Given the description of an element on the screen output the (x, y) to click on. 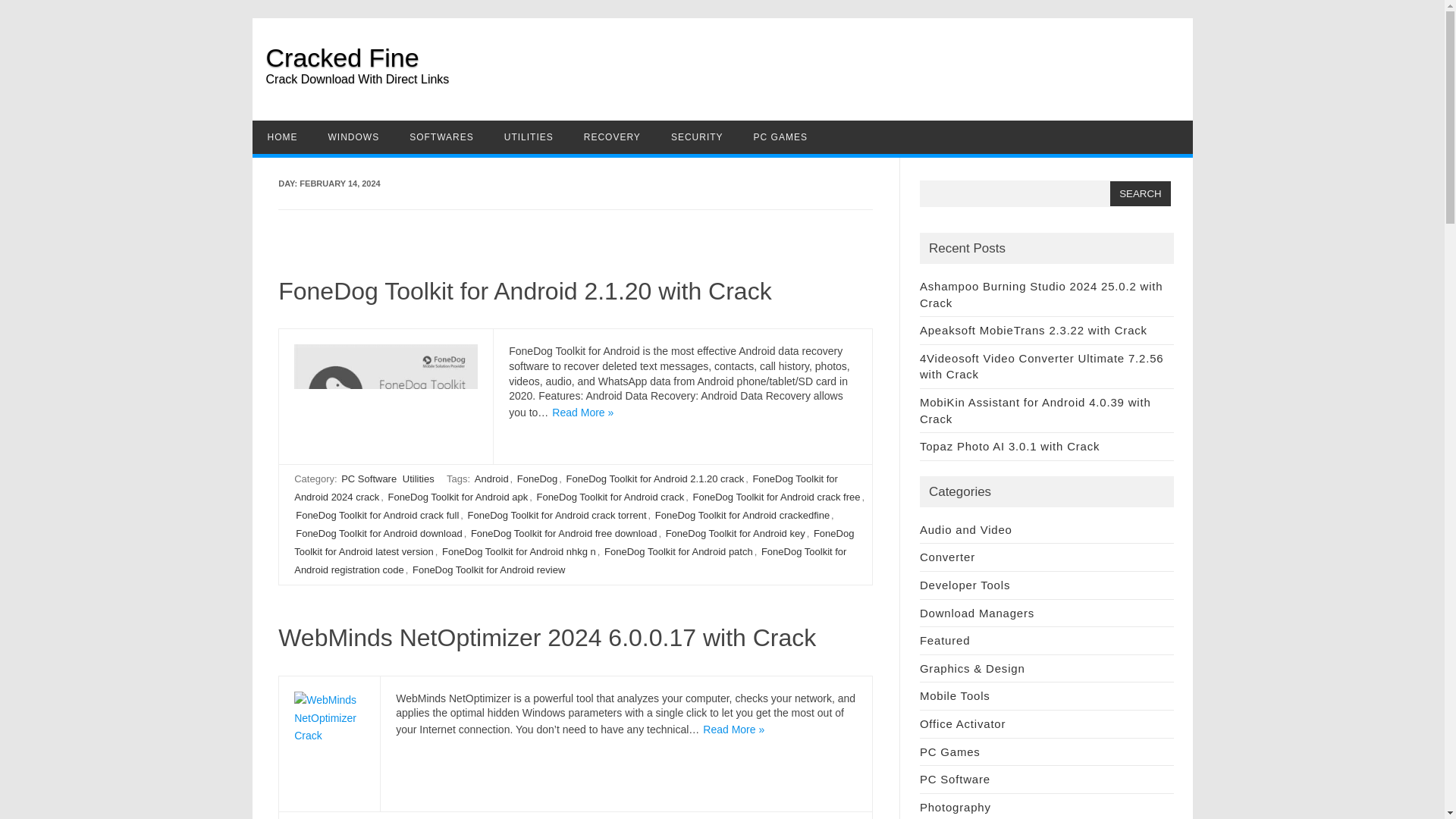
PC Software (368, 478)
Crack Download With Direct Links (728, 88)
FoneDog Toolkit for Android crack torrent (556, 514)
RECOVERY (612, 136)
FoneDog Toolkit for Android crack full (377, 514)
FoneDog (537, 478)
FoneDog Toolkit for Android apk (457, 496)
FoneDog Toolkit for Android registration code (569, 560)
FoneDog Toolkit for Android 2.1.20 with Crack (524, 290)
